Given the description of an element on the screen output the (x, y) to click on. 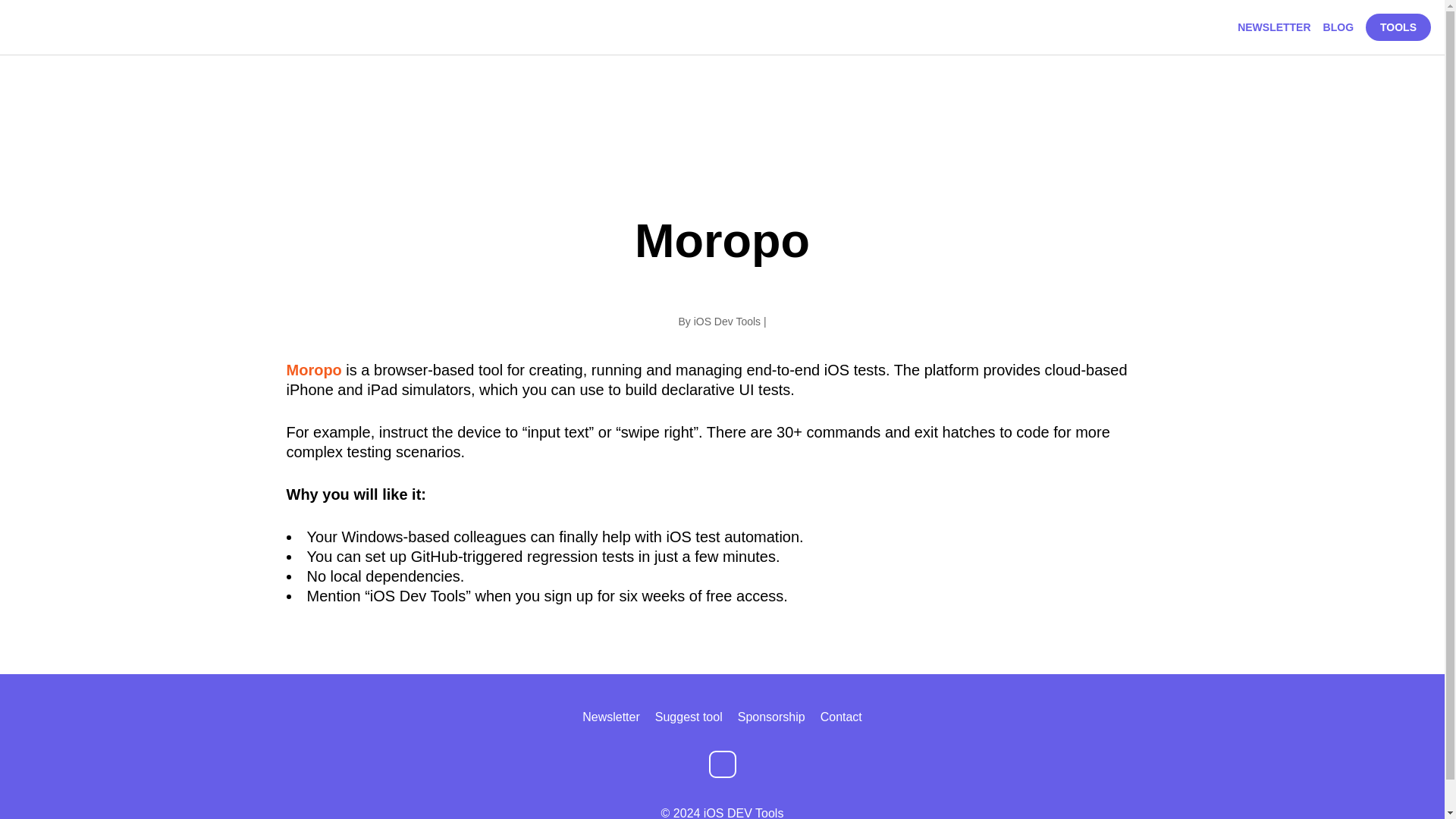
Contact (841, 716)
Sponsorship (771, 716)
TOOLS (1398, 26)
Blog (1338, 27)
Contact (841, 716)
Newsletter (611, 716)
Newsletter (611, 716)
iOS Dev Tools (727, 321)
BLOG (1338, 27)
Sponsorship (771, 716)
